Given the description of an element on the screen output the (x, y) to click on. 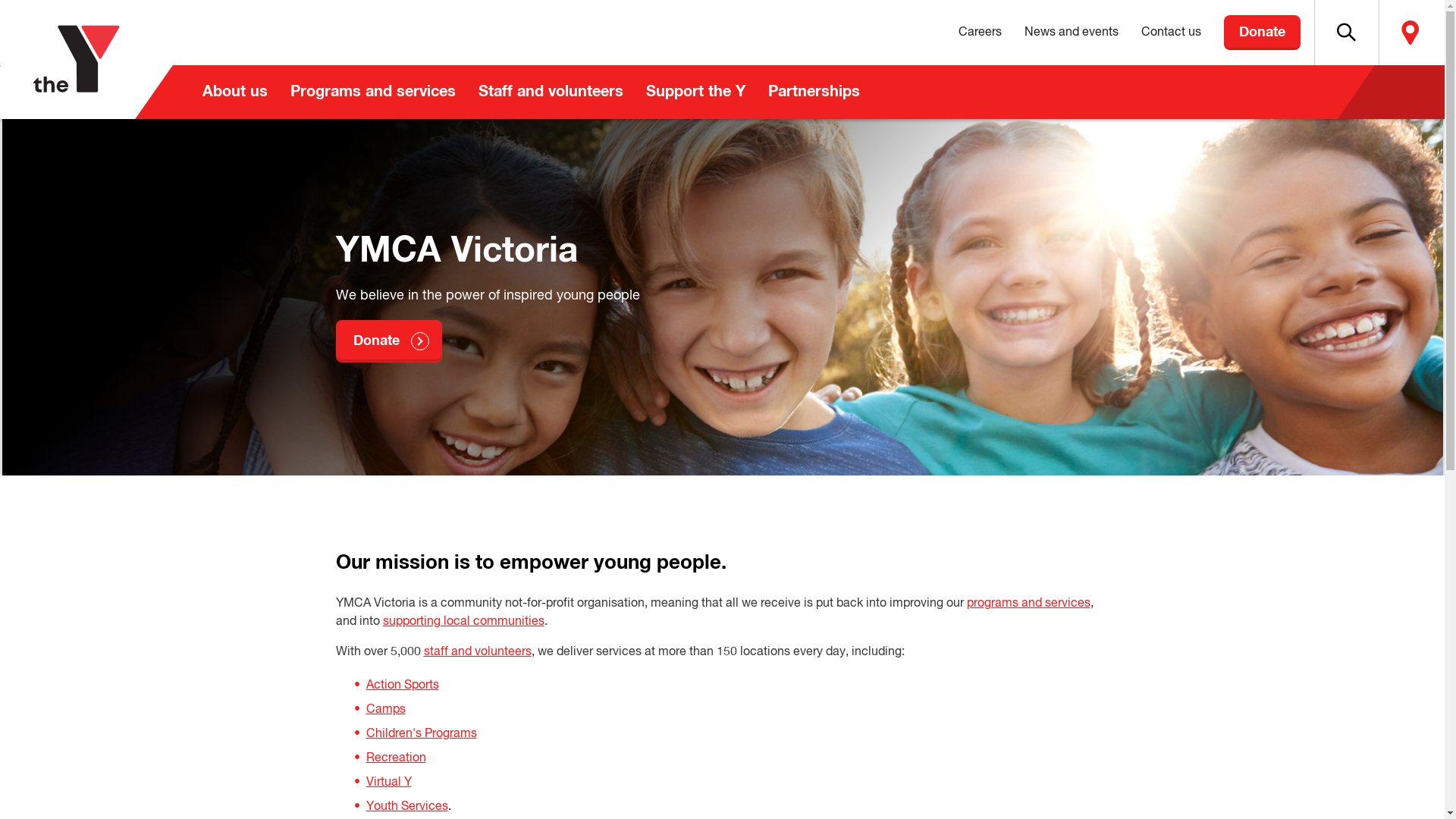
Virtual Y Element type: text (388, 782)
Camps Element type: text (384, 709)
staff and volunteers Element type: text (476, 652)
Action Sports Element type: text (401, 685)
Staff and volunteers Element type: text (550, 92)
Careers Element type: text (979, 32)
Donate Element type: text (1261, 32)
programs and services Element type: text (1027, 603)
Youth Services Element type: text (406, 806)
Programs and services Element type: text (373, 92)
Children's Programs Element type: text (420, 734)
Partnerships Element type: text (813, 92)
supporting local communities Element type: text (462, 621)
News and events Element type: text (1071, 32)
Locate Element type: text (1410, 32)
Recreation Element type: text (395, 758)
Donate Element type: text (388, 341)
About us Element type: text (235, 92)
Contact us Element type: text (1170, 32)
Support the Y Element type: text (694, 92)
